Given the description of an element on the screen output the (x, y) to click on. 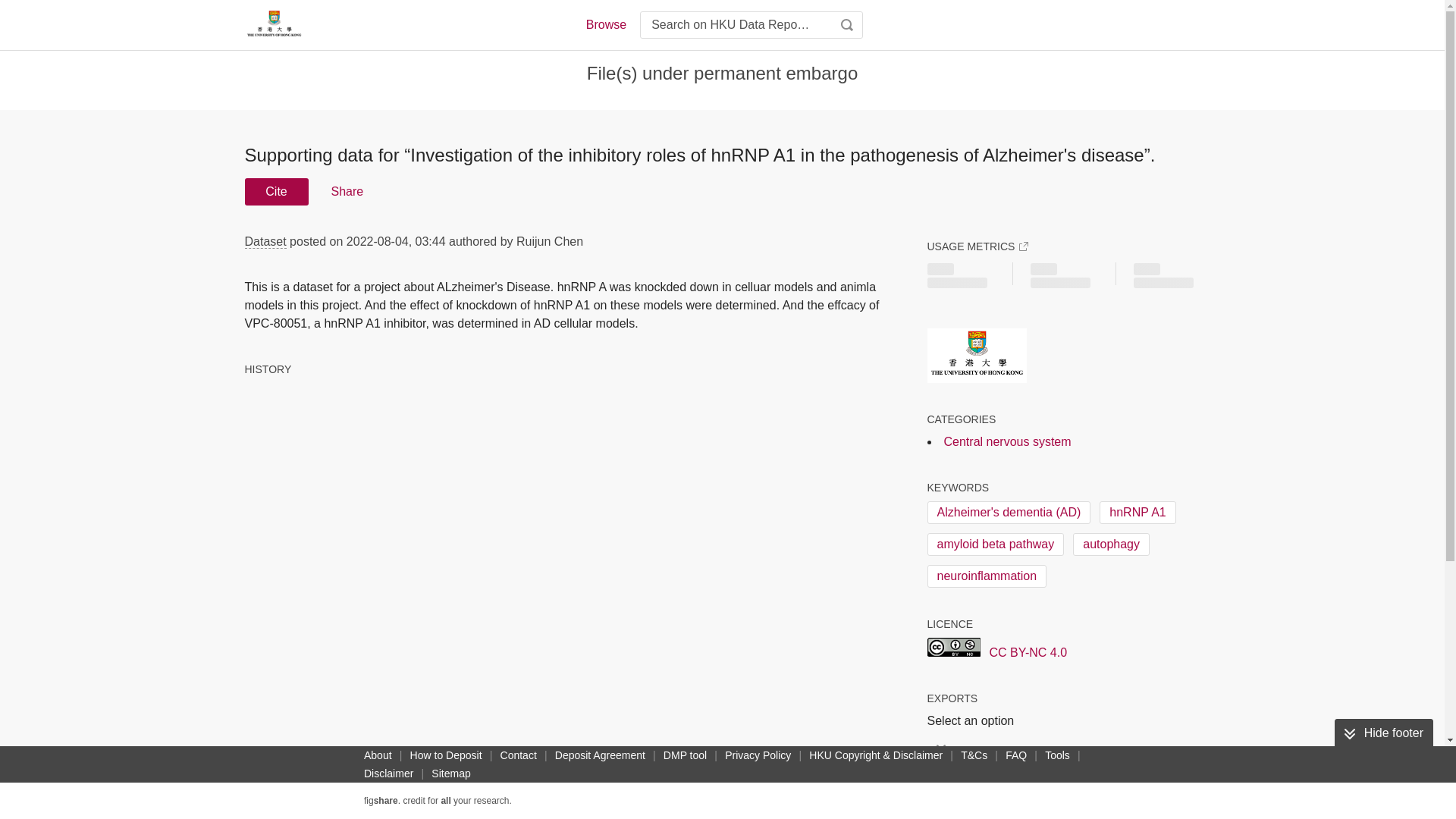
Tools (1057, 755)
Deposit Agreement (599, 755)
autophagy (1111, 544)
Browse (605, 24)
Cite (275, 191)
How to Deposit (446, 755)
Privacy Policy (757, 755)
Hide footer (1383, 733)
amyloid beta pathway (995, 544)
hnRNP A1 (1136, 512)
